Given the description of an element on the screen output the (x, y) to click on. 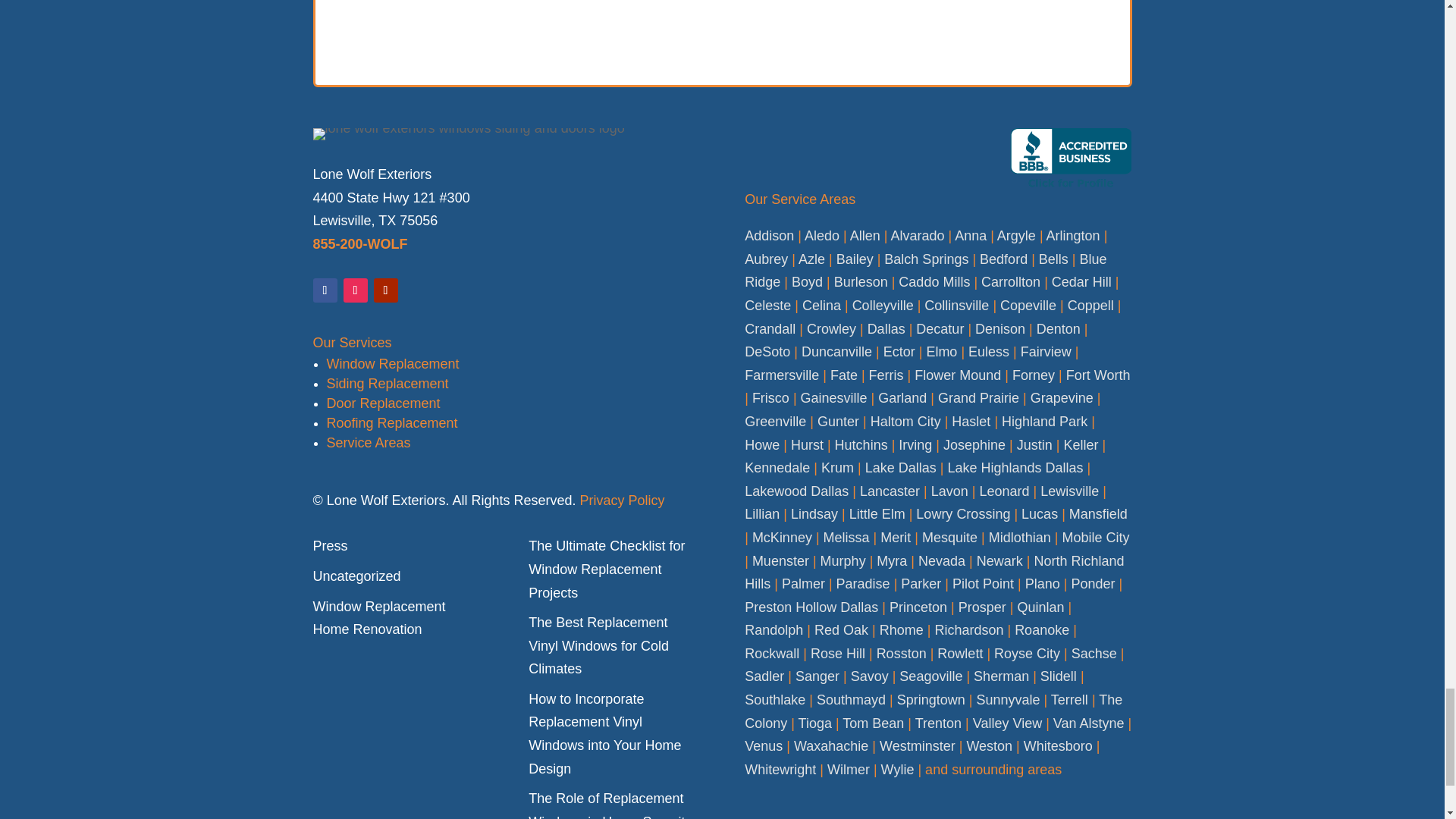
Follow on Instagram (354, 290)
Follow on Youtube (384, 290)
lone wolf exteriors windows siding and doors logo (468, 133)
Follow on Facebook (324, 290)
